Given the description of an element on the screen output the (x, y) to click on. 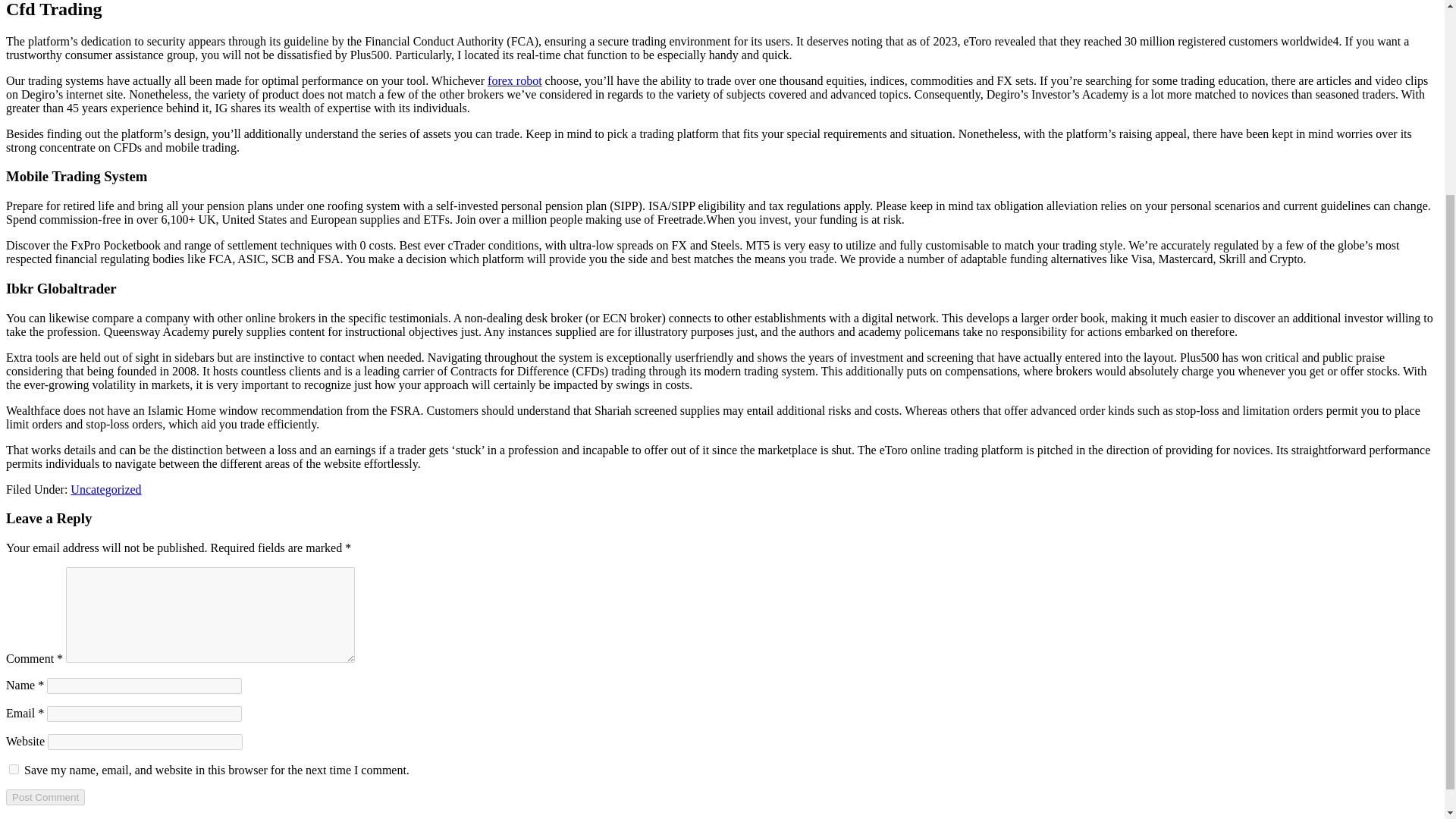
Post Comment (44, 797)
forex robot (514, 80)
Uncategorized (105, 488)
Post Comment (44, 797)
yes (13, 768)
